Given the description of an element on the screen output the (x, y) to click on. 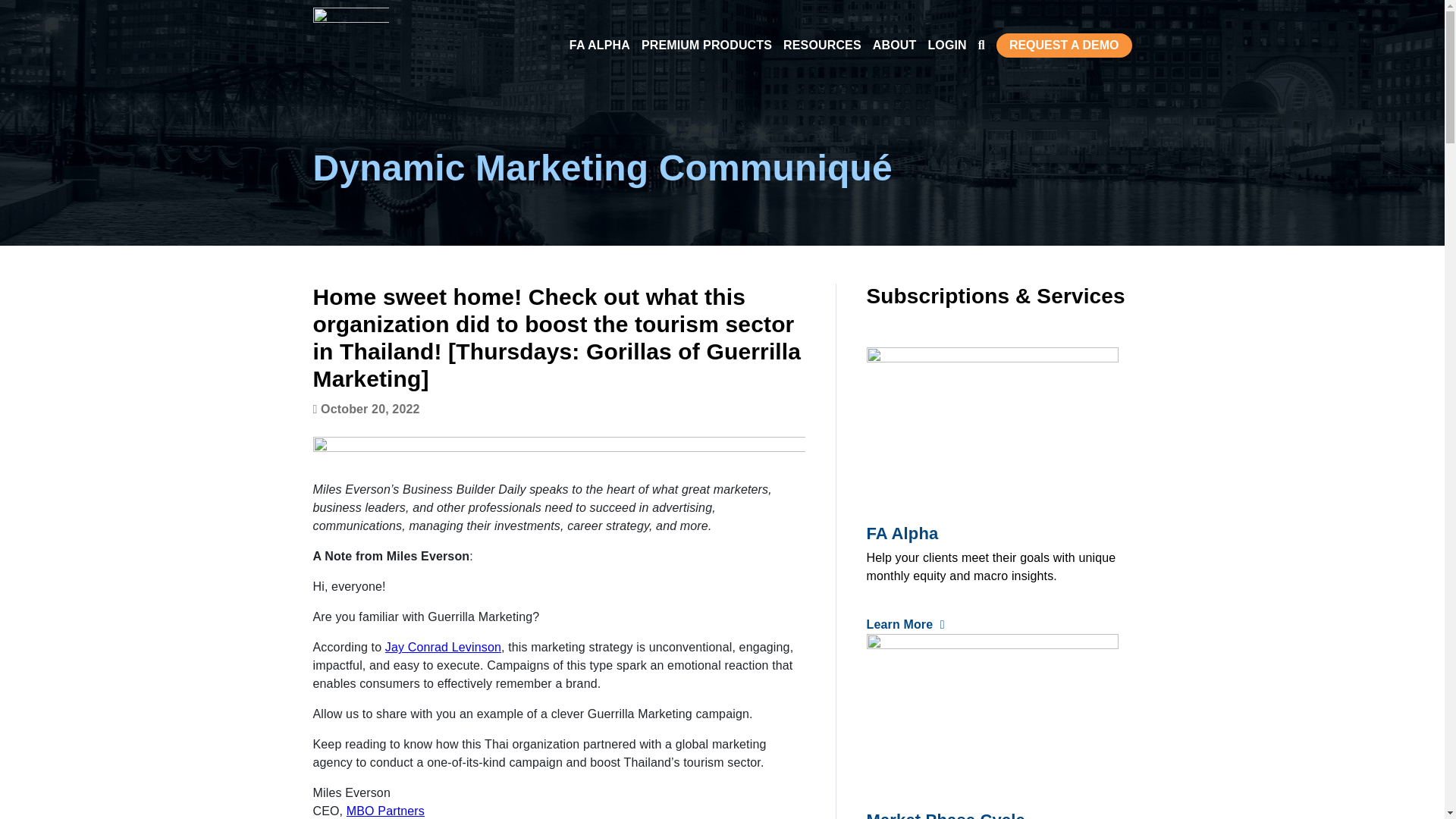
Jay Conrad Levinson (442, 646)
Learn More (904, 624)
REQUEST A DEMO (1063, 45)
MBO Partners (385, 810)
RESOURCES (822, 44)
FA ALPHA (599, 44)
ABOUT (894, 44)
PREMIUM PRODUCTS (706, 44)
LOGIN (946, 44)
